Given the description of an element on the screen output the (x, y) to click on. 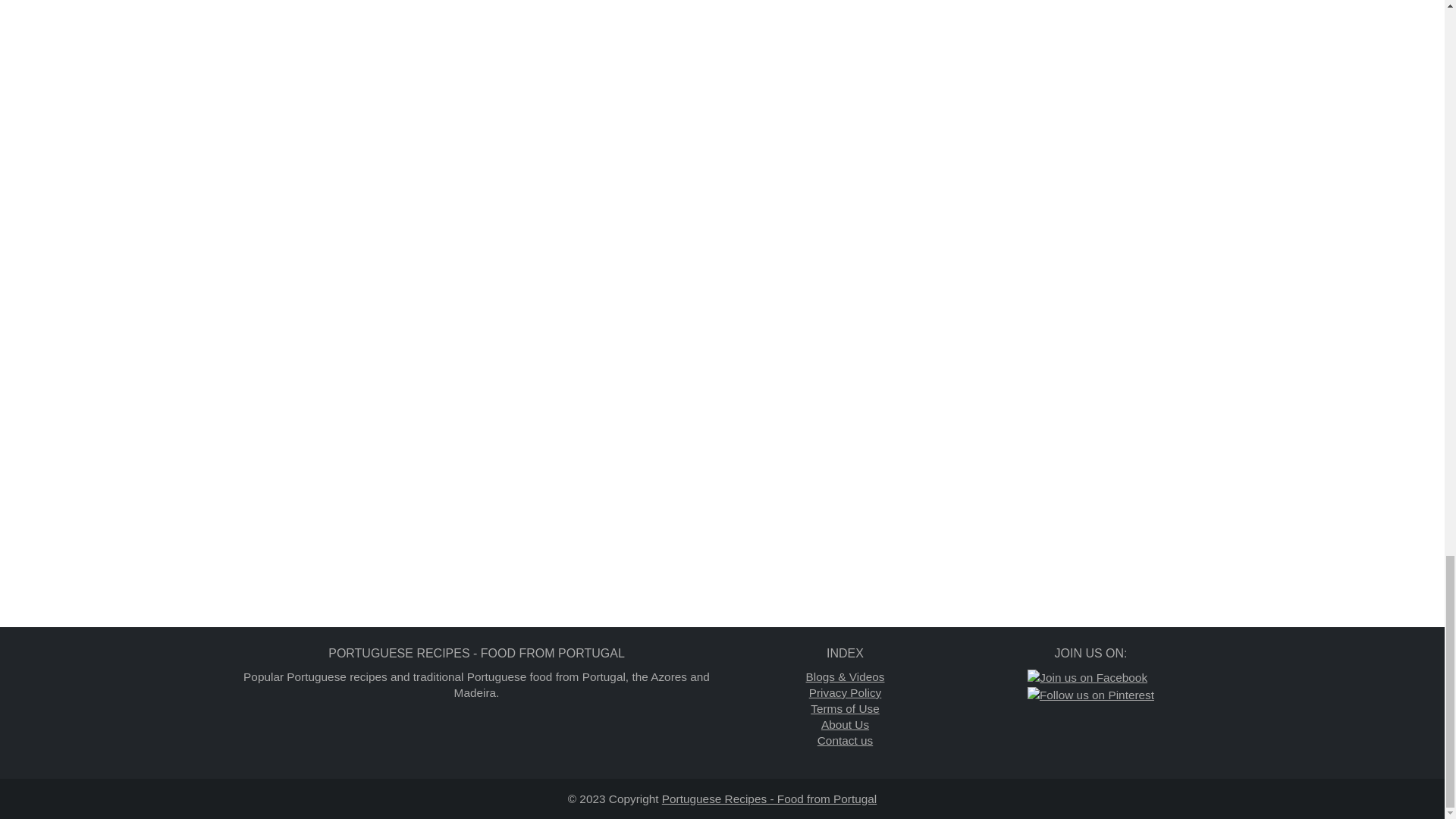
Follow us on Pinterest (1090, 694)
Add Comment (790, 17)
Join us on Facebook (1087, 677)
